Given the description of an element on the screen output the (x, y) to click on. 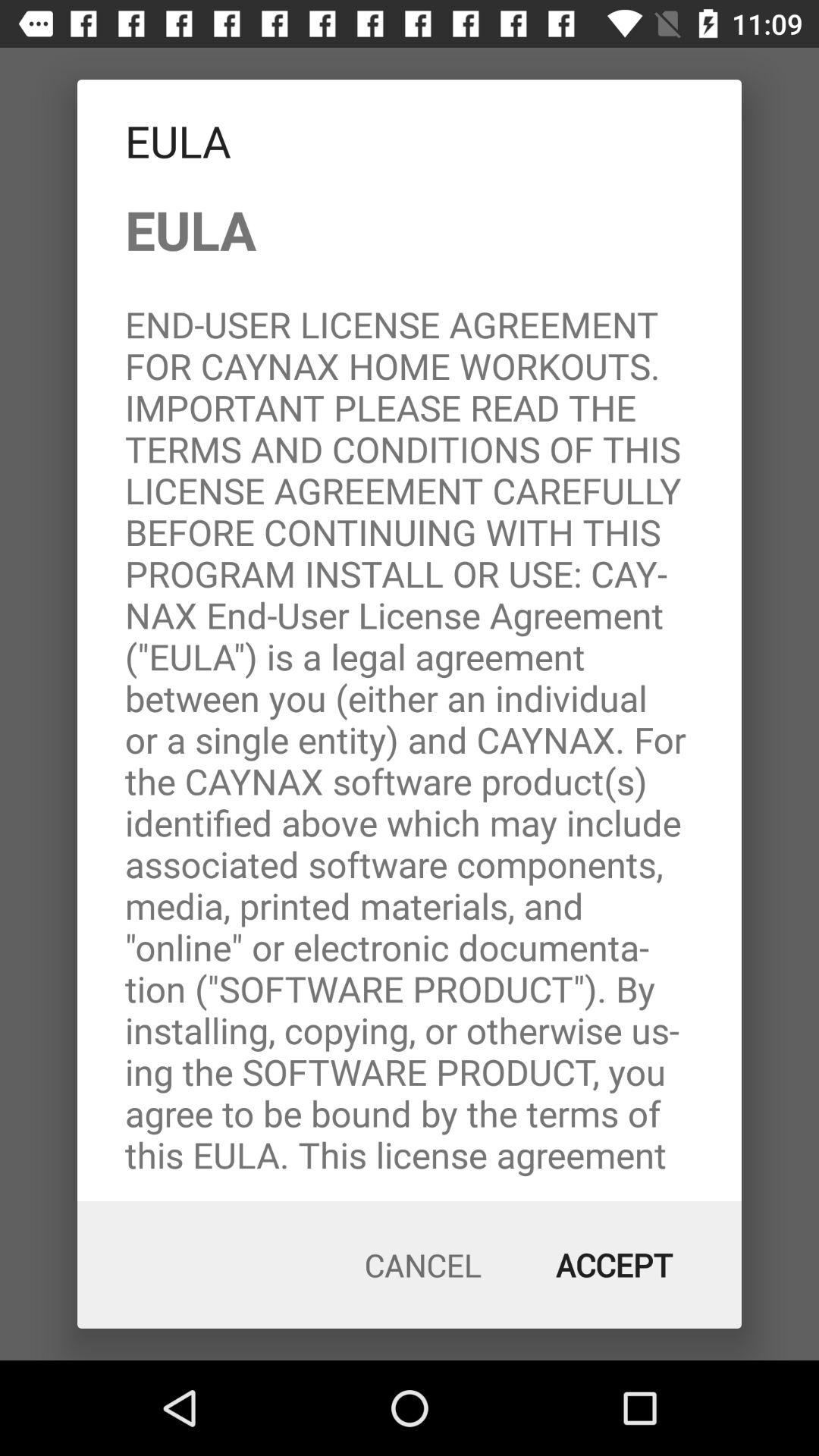
launch the cancel (422, 1264)
